Given the description of an element on the screen output the (x, y) to click on. 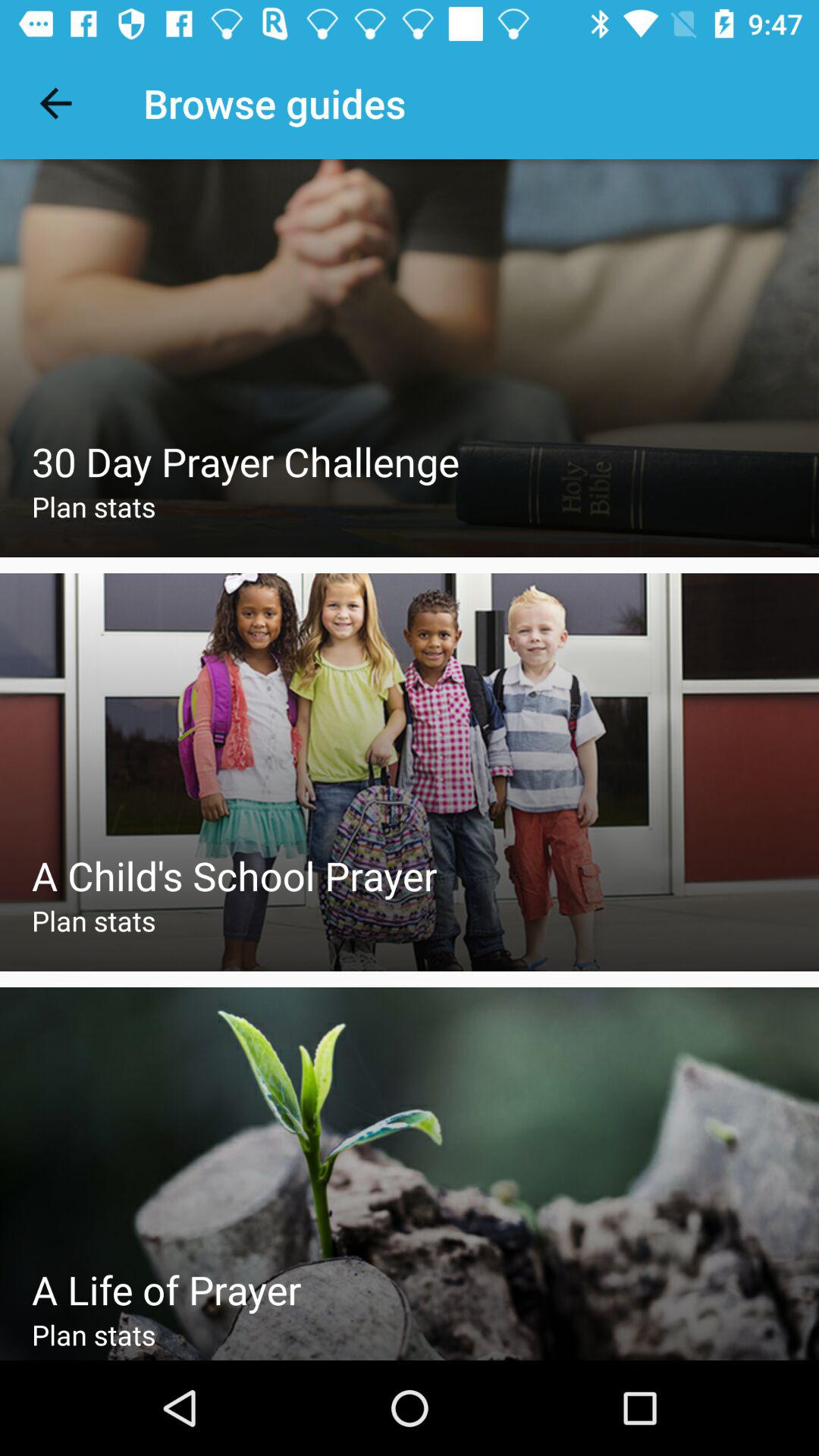
turn on icon next to the browse guides icon (55, 103)
